Given the description of an element on the screen output the (x, y) to click on. 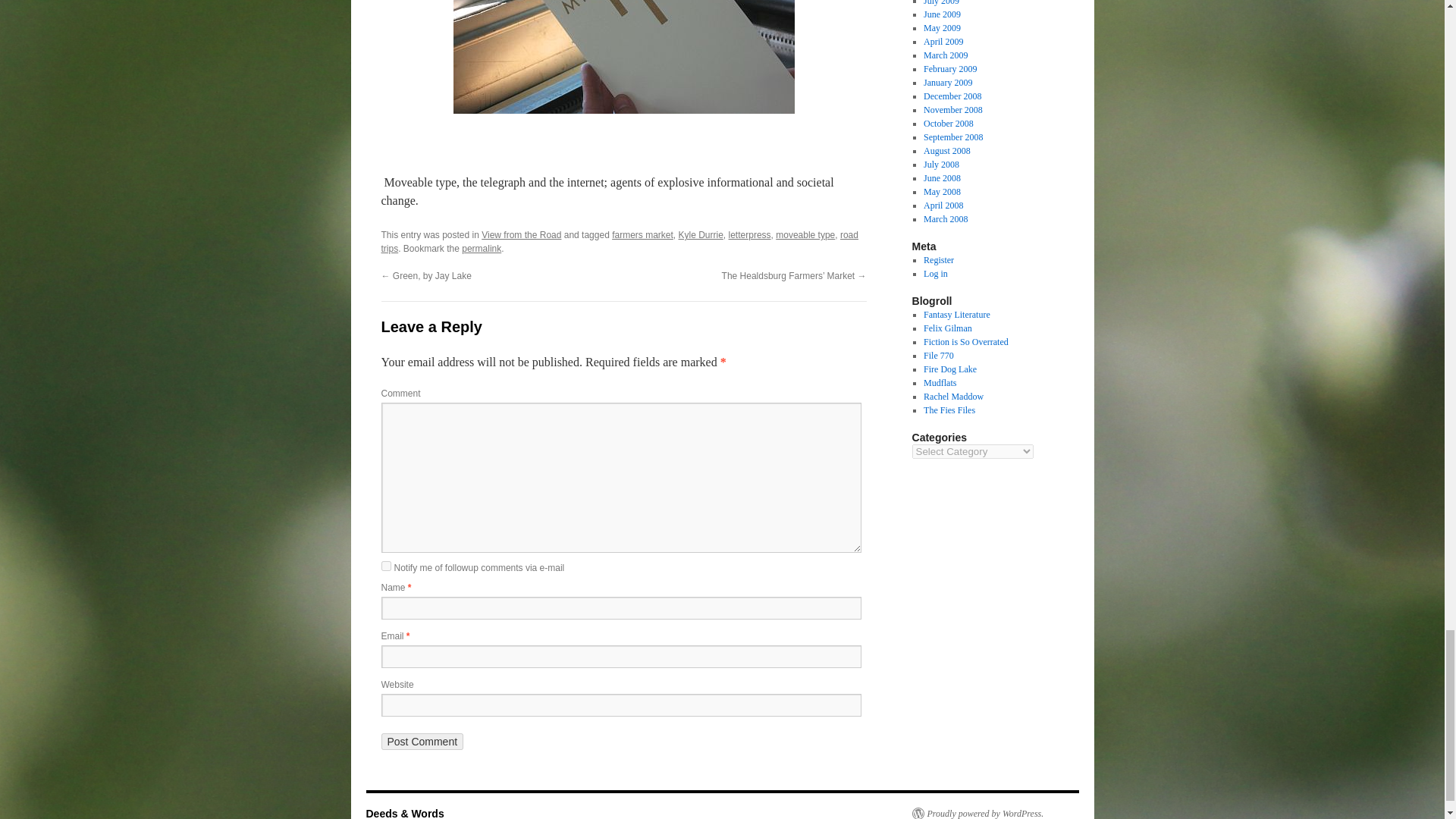
Post Comment (421, 741)
moveable type (805, 235)
Kyle Durrie (700, 235)
Dry wit (947, 327)
subscribe (385, 565)
View from the Road (520, 235)
Post Comment (421, 741)
just my type II (623, 56)
Good book reviews (966, 341)
road trips (618, 241)
letterpress (750, 235)
farmers market (641, 235)
permalink (480, 248)
Permalink to Just My Type (480, 248)
